Given the description of an element on the screen output the (x, y) to click on. 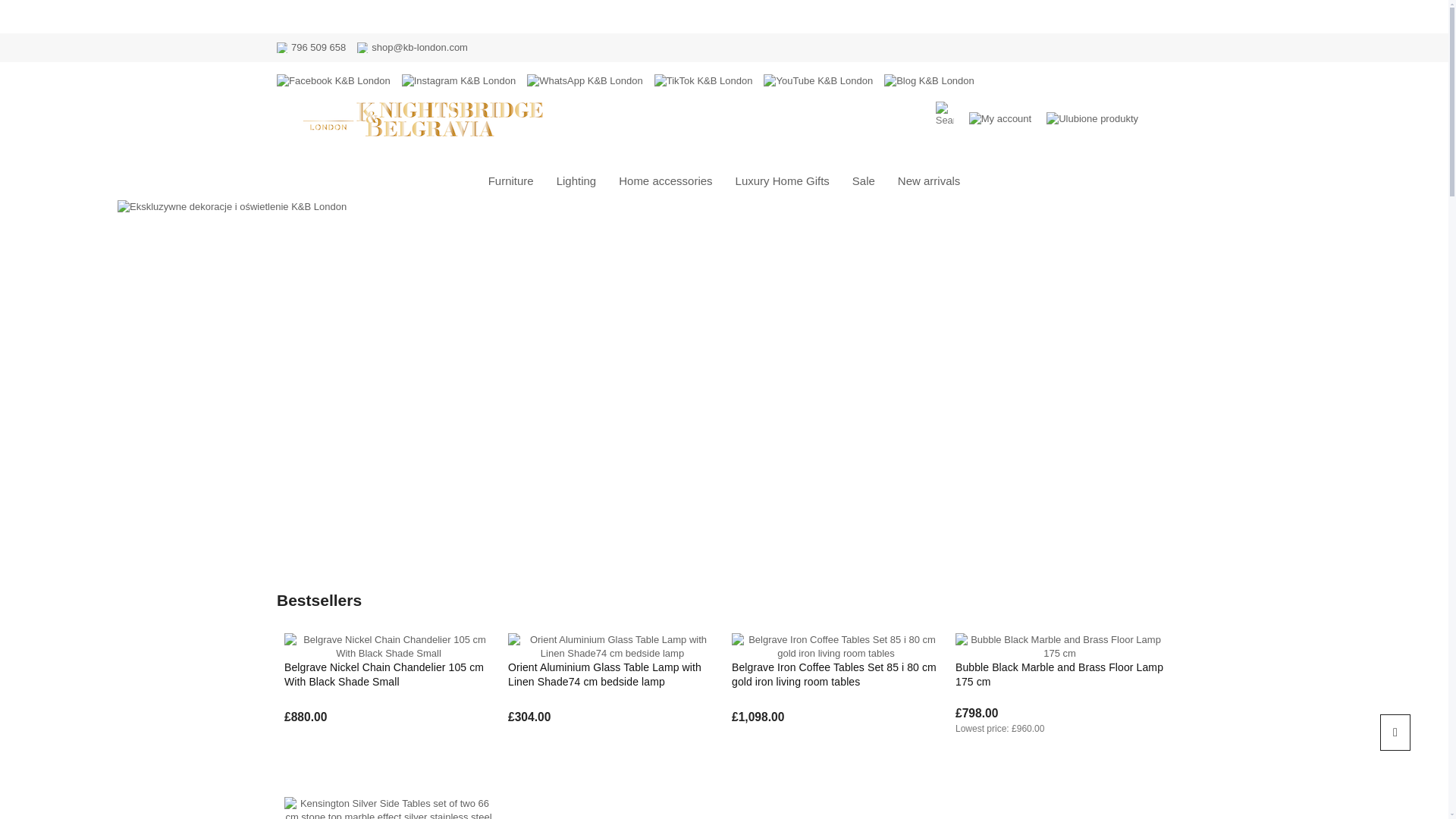
Ulubione produkty (1092, 118)
796 509 658 (318, 47)
Furniture (510, 180)
My account (999, 118)
Home page (427, 118)
Furniture (510, 180)
